Given the description of an element on the screen output the (x, y) to click on. 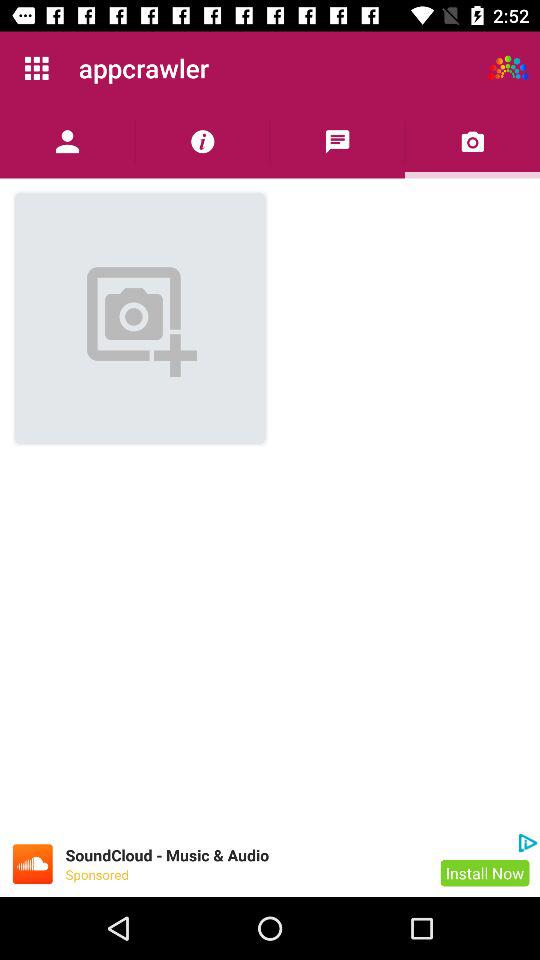
choose the image from gallery or take a new photo (472, 141)
